Given the description of an element on the screen output the (x, y) to click on. 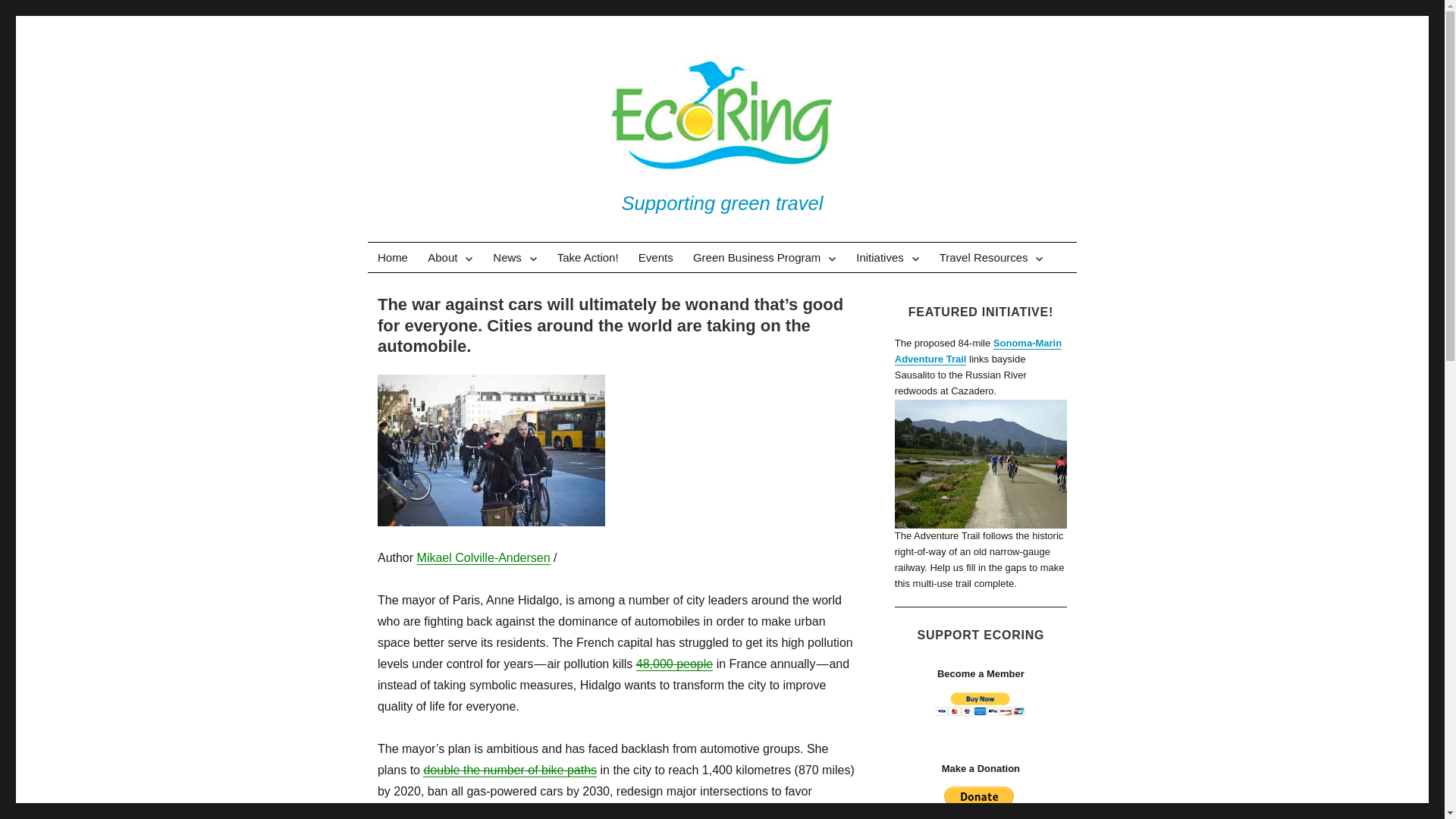
Events (655, 256)
Green Business Program (763, 256)
Home (392, 256)
News (515, 256)
About (450, 256)
Take Action! (587, 256)
Initiatives (886, 256)
Travel Resources (992, 256)
PayPal - The safer, easier way to pay online! (979, 802)
